Given the description of an element on the screen output the (x, y) to click on. 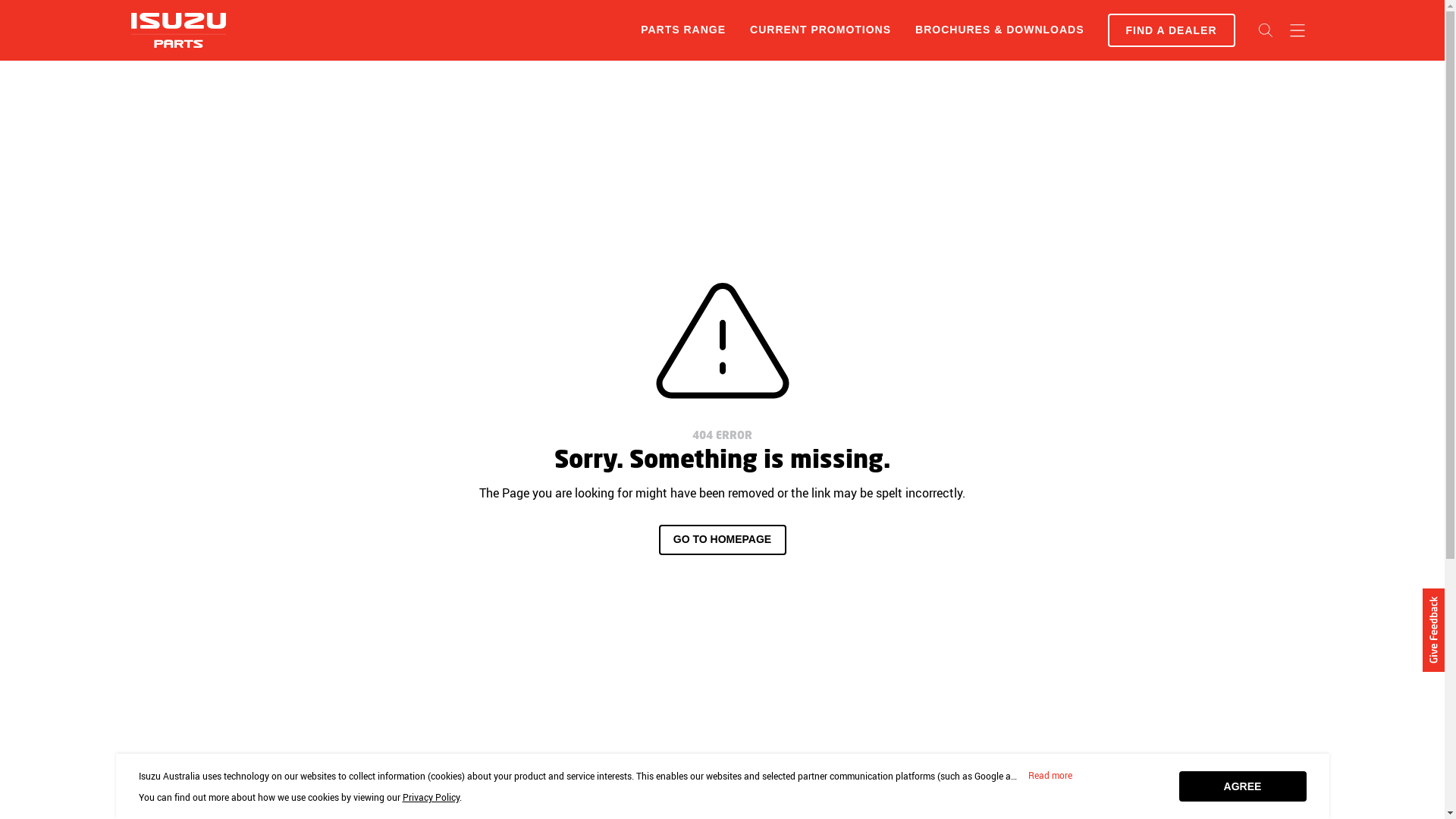
FIND A DEALER Element type: text (1170, 30)
GO TO HOMEPAGE Element type: text (721, 539)
PARTS RANGE Element type: text (682, 29)
AGREE Element type: text (1241, 786)
Privacy Policy Element type: text (429, 796)
Read more Element type: text (1049, 775)
BROCHURES & DOWNLOADS Element type: text (999, 30)
CURRENT PROMOTIONS Element type: text (820, 30)
